Given the description of an element on the screen output the (x, y) to click on. 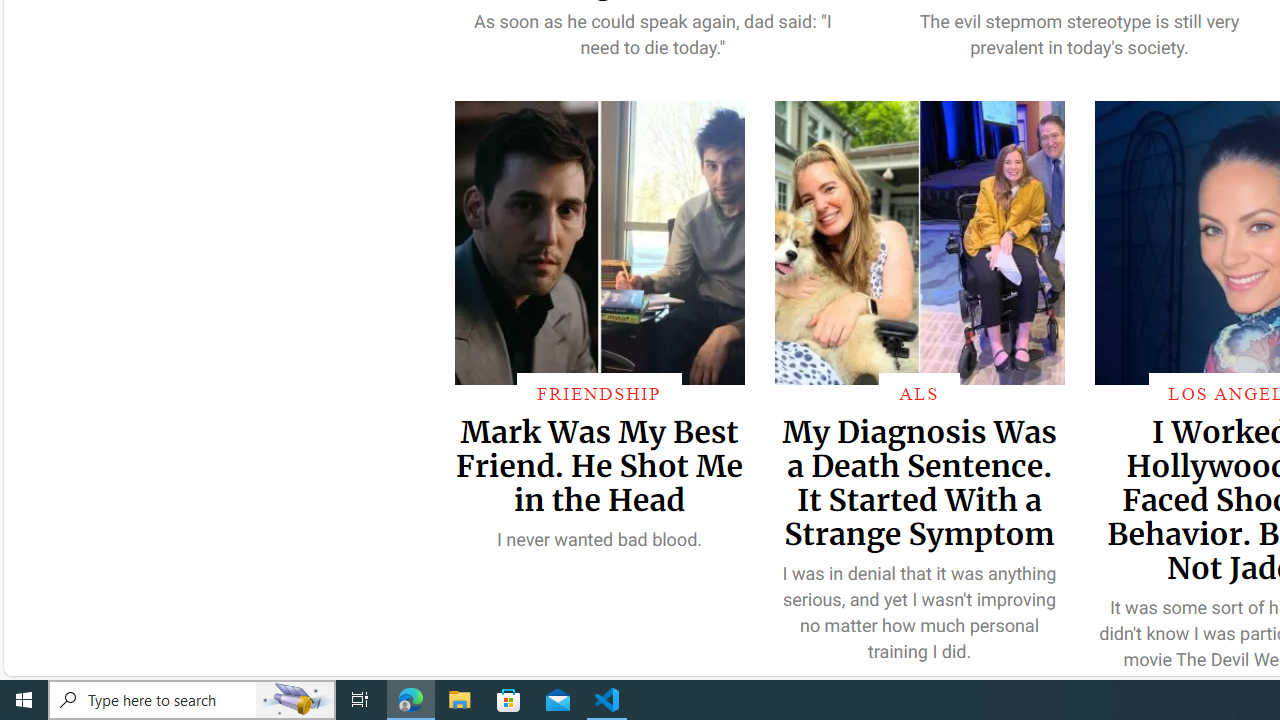
Microsoft Store (509, 699)
Microsoft Edge - 1 running window (411, 699)
Mark Was My Best Friend. He Shot Me in the Head (598, 465)
Visual Studio Code - 1 running window (607, 699)
Search highlights icon opens search home window (295, 699)
Start (24, 699)
Task View (359, 699)
ALS (918, 393)
Type here to search (191, 699)
FRIENDSHIP (599, 393)
File Explorer (460, 699)
